Given the description of an element on the screen output the (x, y) to click on. 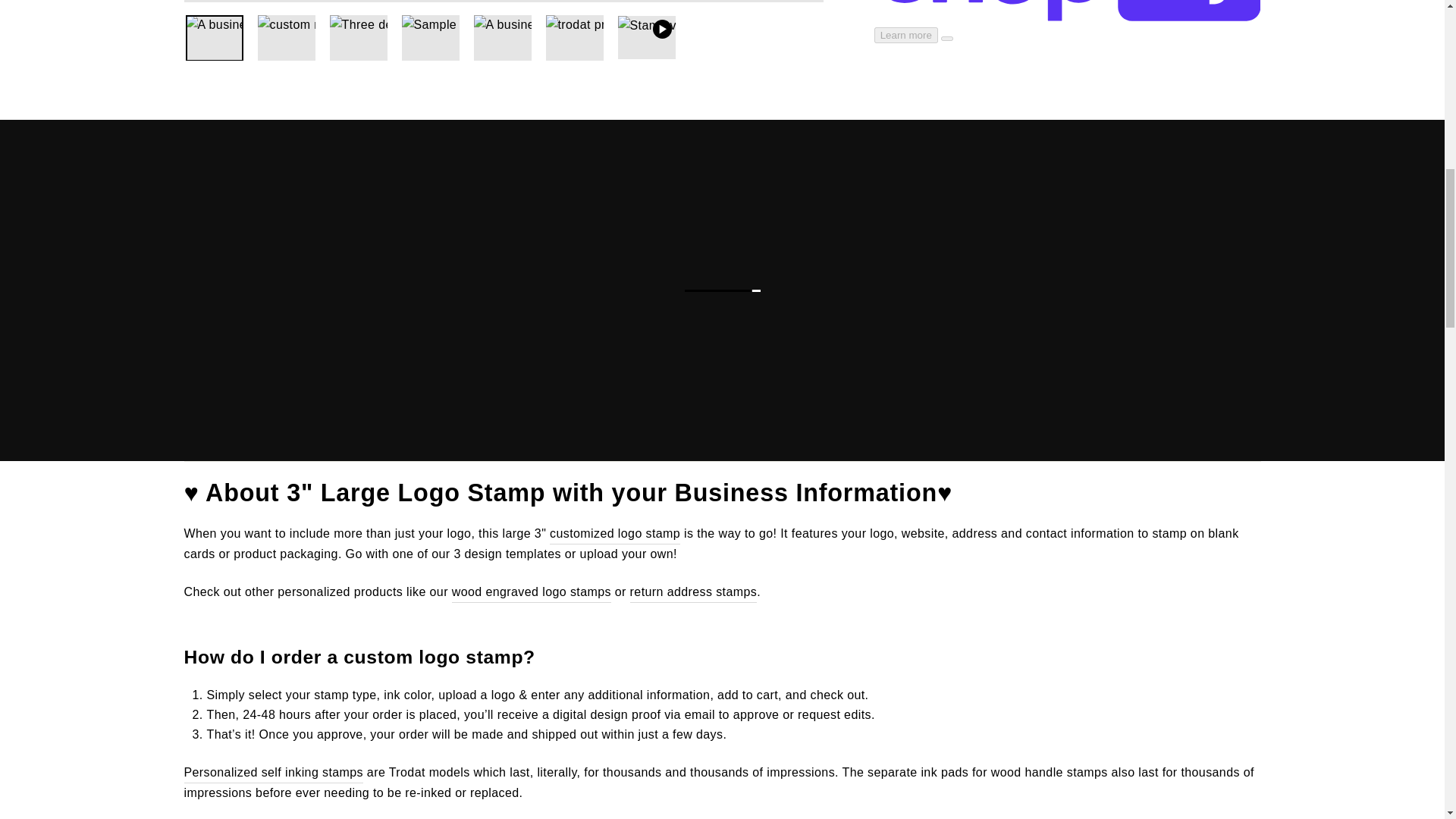
Engraved Logo Stamps (531, 592)
Large Custom Stamps (614, 534)
Return Address Stamps (693, 592)
